Given the description of an element on the screen output the (x, y) to click on. 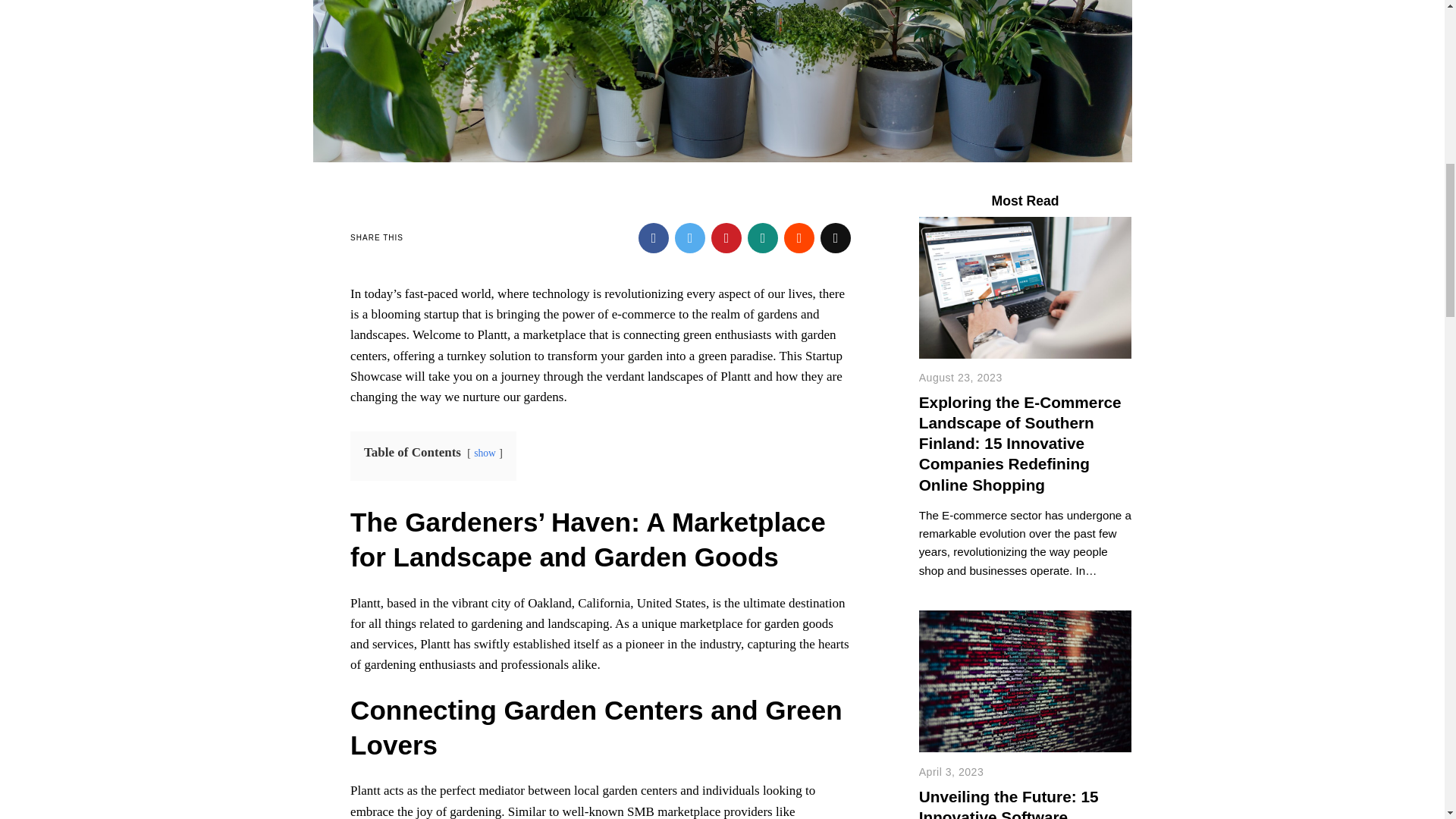
Reddit (798, 237)
Facebook (653, 237)
Whatsapp (762, 237)
Email (835, 237)
Pinterest (726, 237)
Twitter (689, 237)
